Given the description of an element on the screen output the (x, y) to click on. 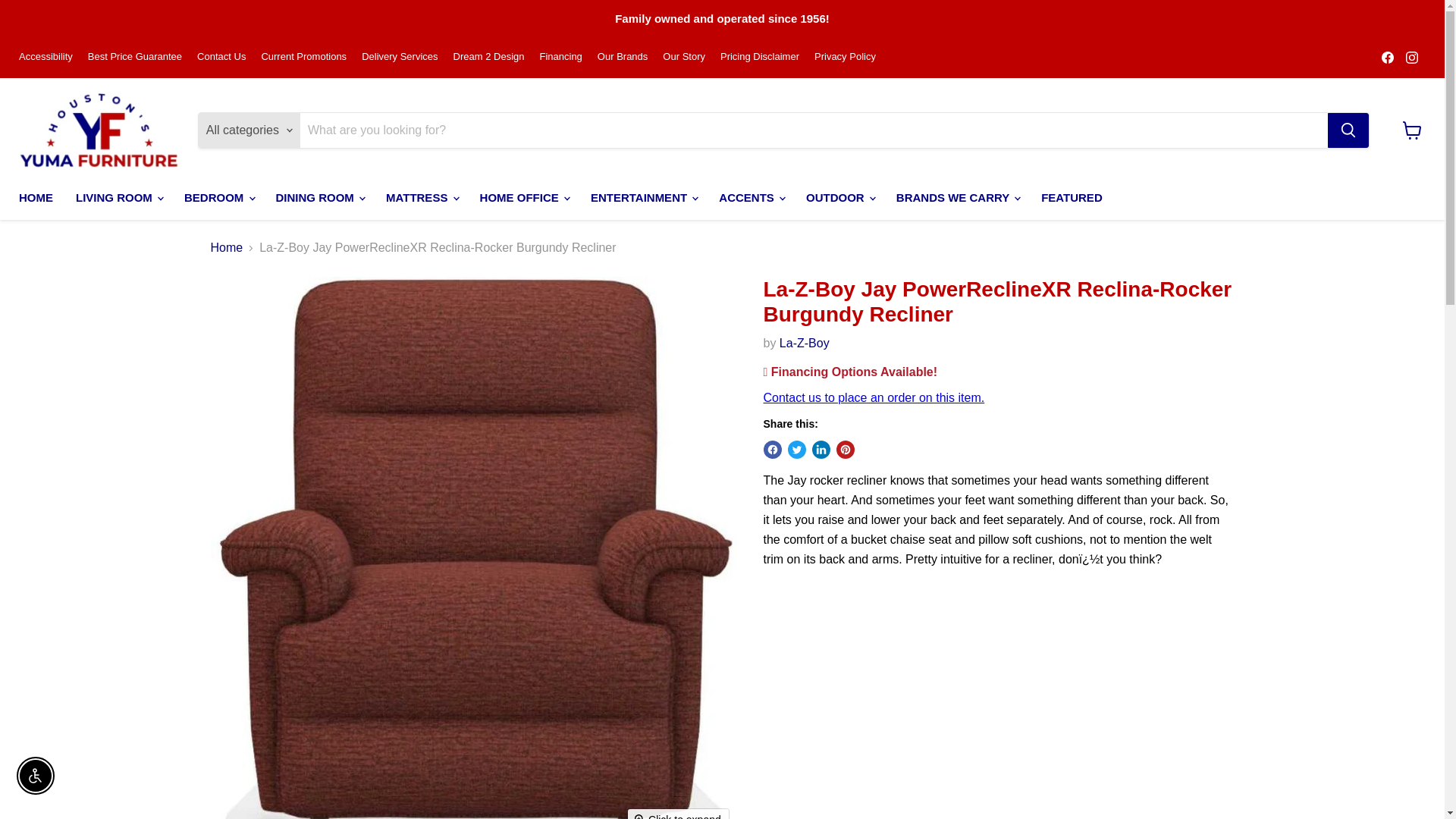
Our Brands (621, 57)
Financing (559, 57)
Accessibility (45, 57)
La-Z-Boy (803, 342)
Instagram (1411, 56)
Best Price Guarantee (134, 57)
Privacy Policy (844, 57)
Dream 2 Design (488, 57)
Contact Us (221, 57)
Find us on Instagram (1411, 56)
Pricing Disclaimer (759, 57)
Current Promotions (303, 57)
Find us on Facebook (1387, 56)
Facebook (1387, 56)
Our Story (683, 57)
